Given the description of an element on the screen output the (x, y) to click on. 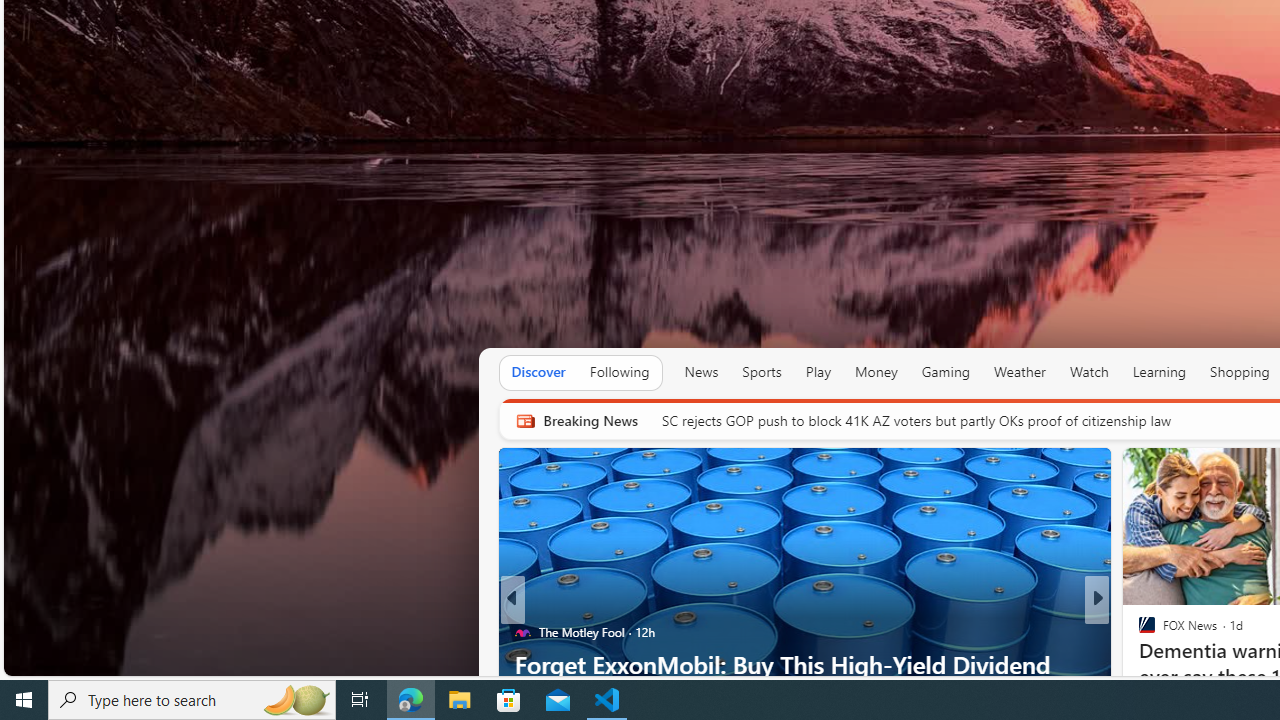
TODAY (1138, 632)
